Given the description of an element on the screen output the (x, y) to click on. 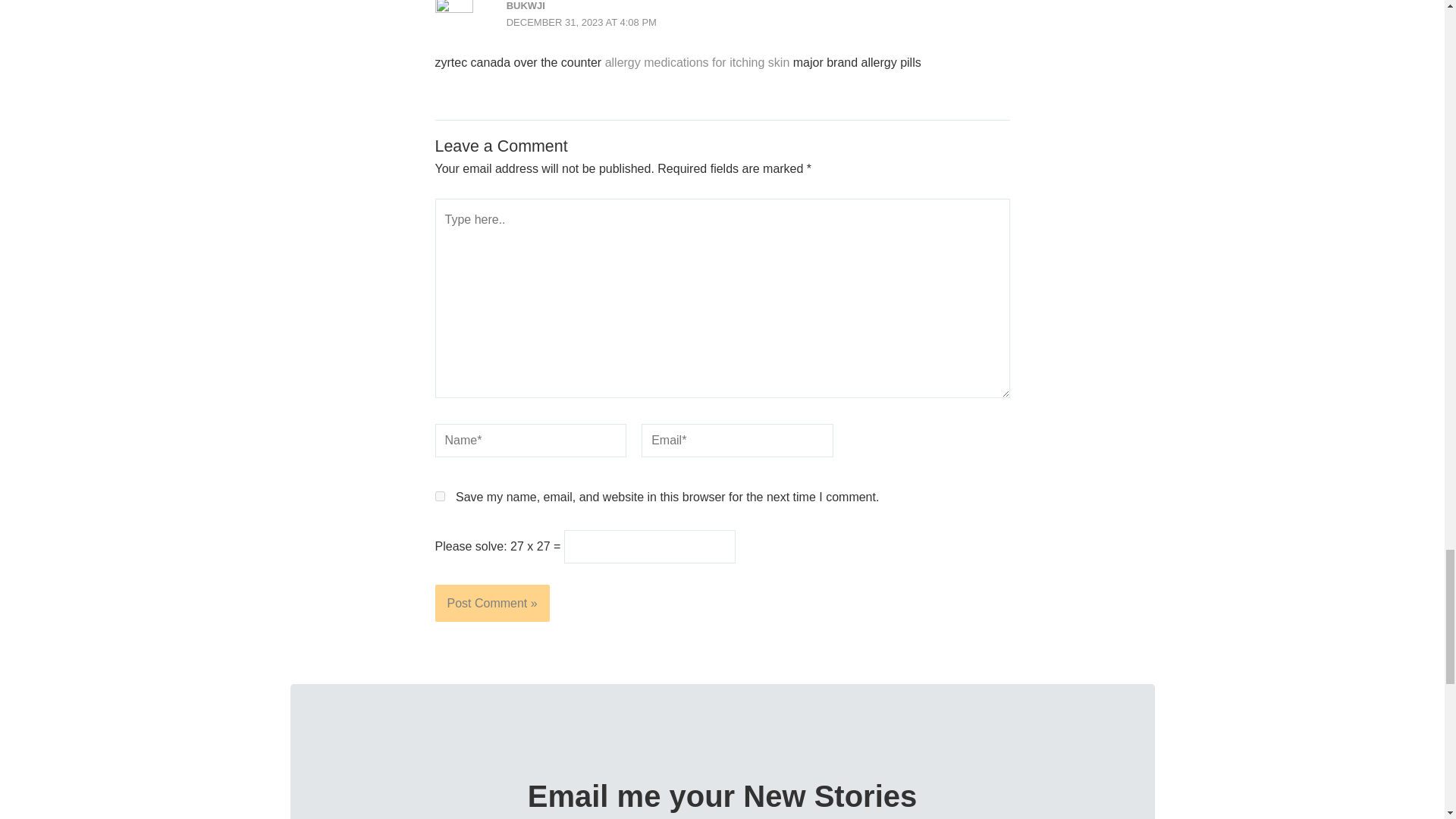
DECEMBER 31, 2023 AT 4:08 PM (581, 21)
yes (440, 496)
BUKWJI (525, 5)
allergy medications for itching skin (697, 62)
